Given the description of an element on the screen output the (x, y) to click on. 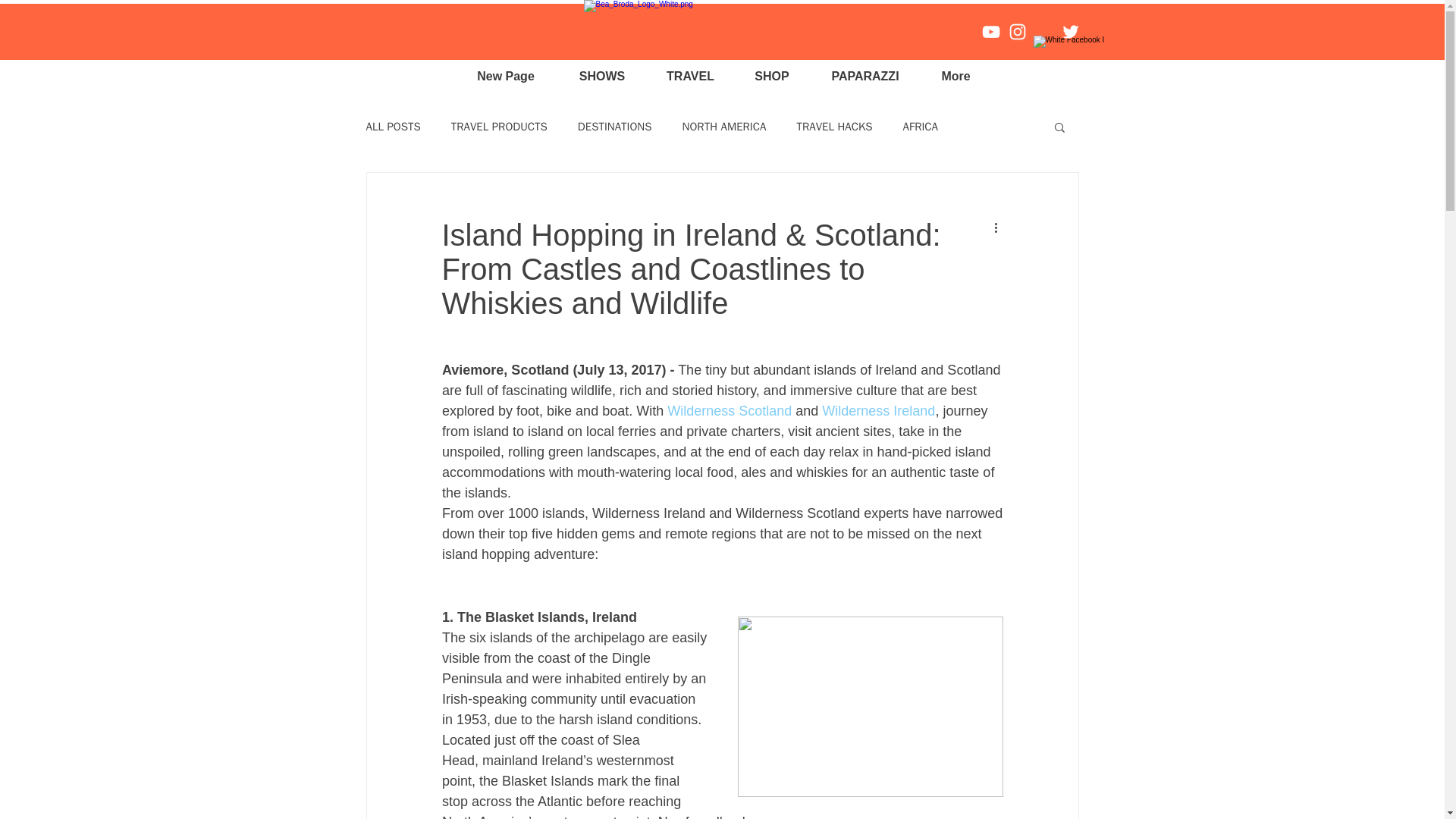
New Page (504, 76)
PAPARAZZI (865, 76)
SHOWS (601, 76)
AFRICA (919, 126)
TRAVEL (689, 76)
TRAVEL PRODUCTS (499, 126)
TRAVEL HACKS (834, 126)
ALL POSTS (392, 126)
SHOP (771, 76)
DESTINATIONS (615, 126)
NORTH AMERICA (724, 126)
